Given the description of an element on the screen output the (x, y) to click on. 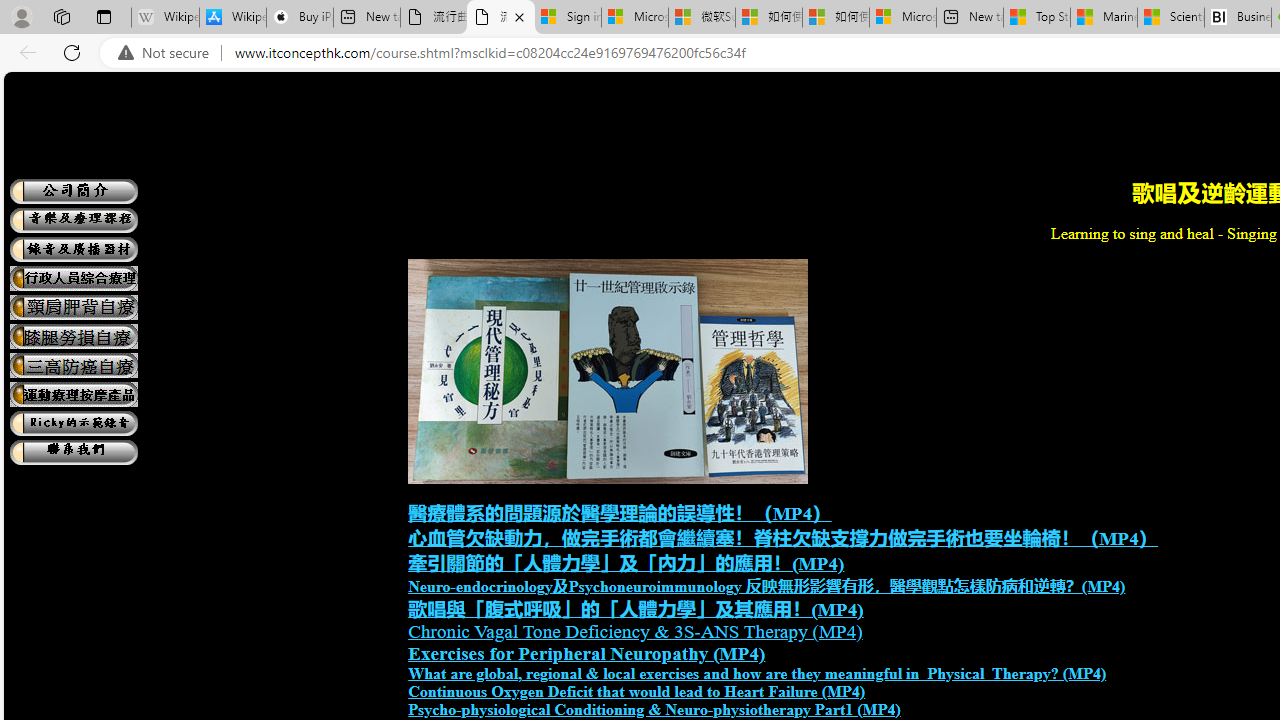
Chronic Vagal Tone Deficiency & 3S-ANS Therapy (MP4) (635, 631)
Not secure (168, 53)
